Given the description of an element on the screen output the (x, y) to click on. 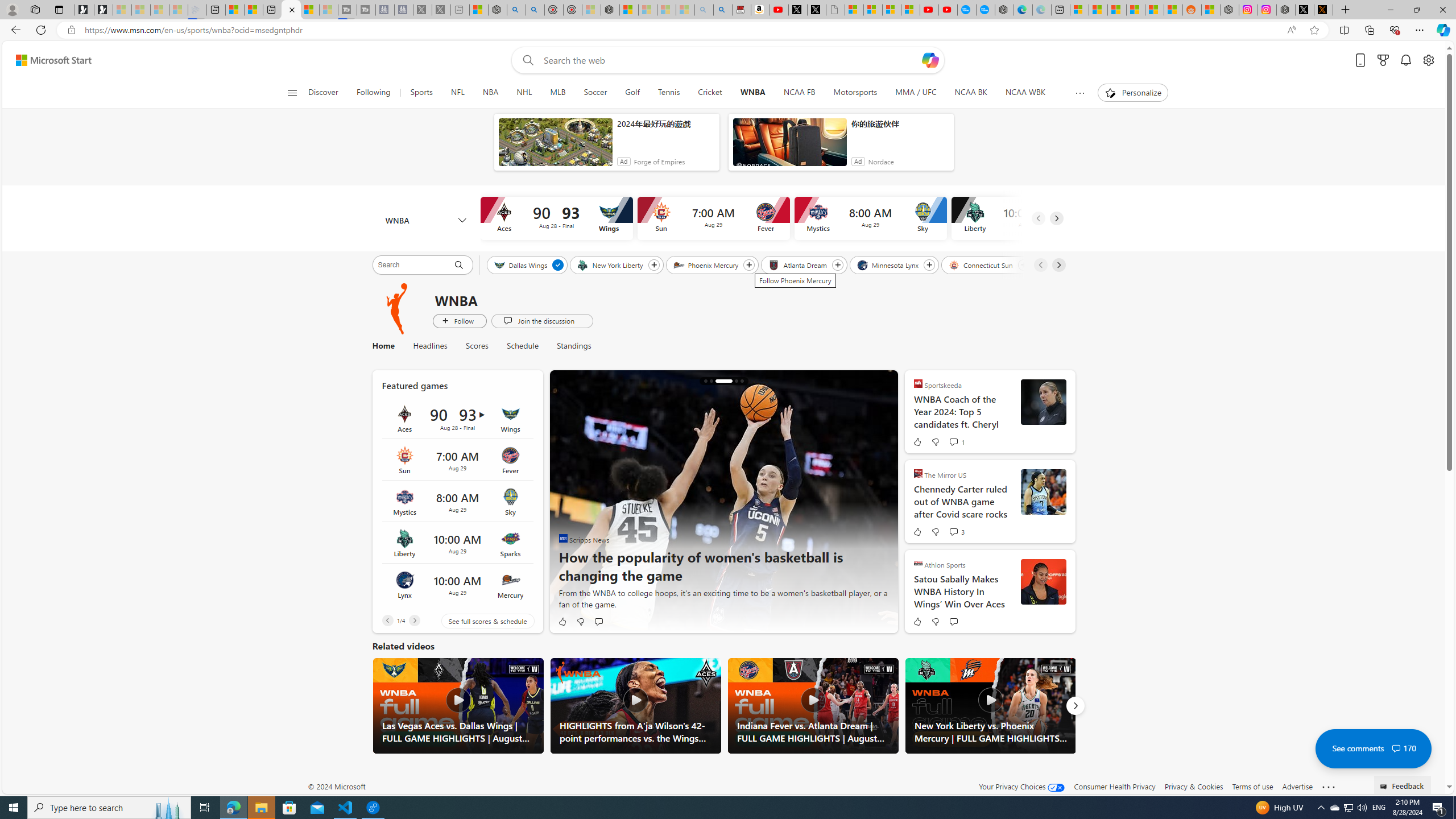
View comments 1 Comment (956, 441)
Shanghai, China hourly forecast | Microsoft Weather (1116, 9)
MMA / UFC (916, 92)
NCAA FB (799, 92)
previous (565, 501)
Headlines (430, 345)
WNBA (397, 308)
Follow Connecticut Sun (1023, 265)
